Given the description of an element on the screen output the (x, y) to click on. 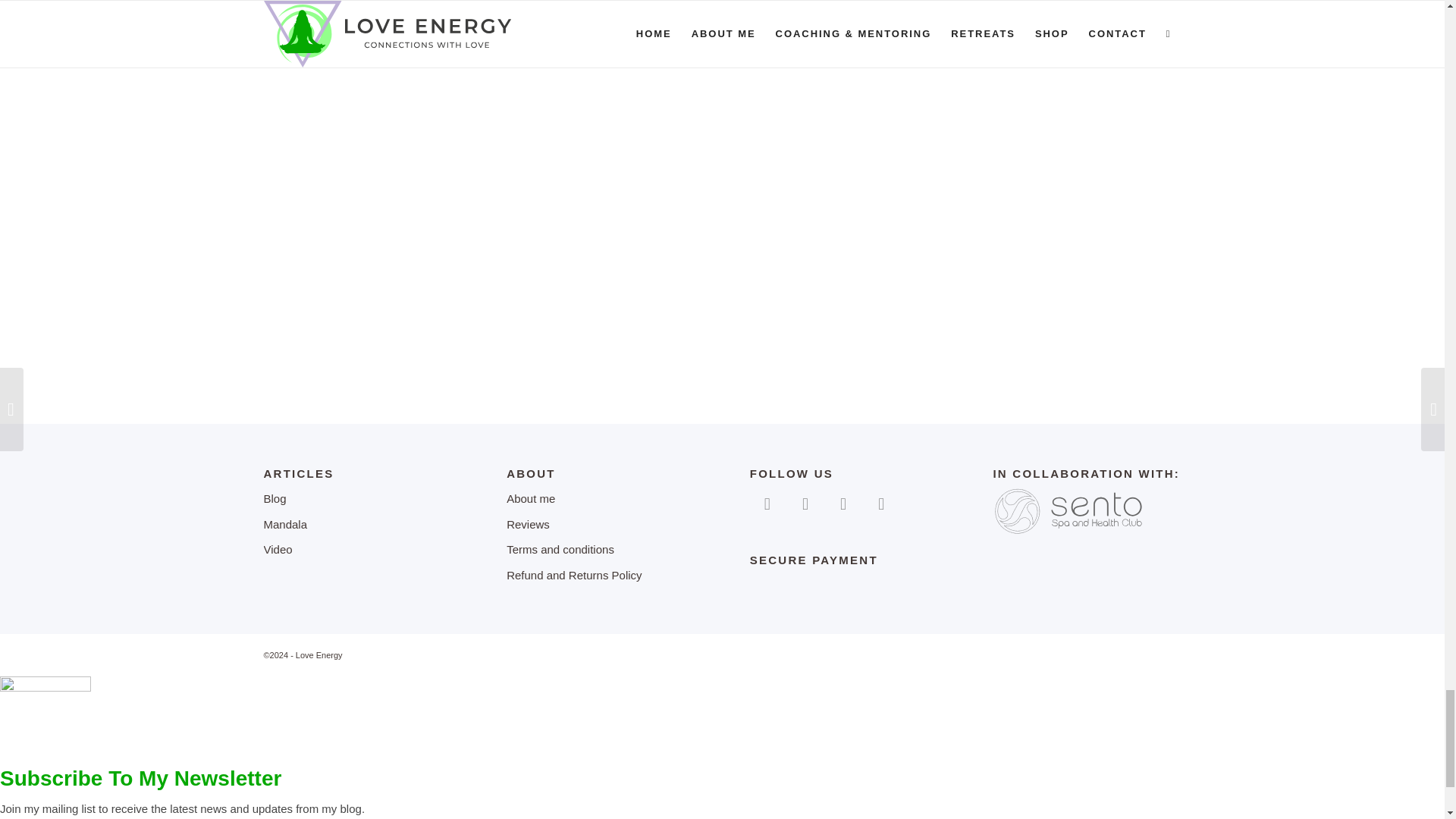
Video (357, 550)
Refund and Returns Policy (600, 575)
Facebook (766, 502)
Mandala (357, 525)
Reviews (600, 525)
Instagram (804, 502)
YouTube (842, 502)
Blog (357, 499)
About me (600, 499)
Telephone (880, 502)
